Given the description of an element on the screen output the (x, y) to click on. 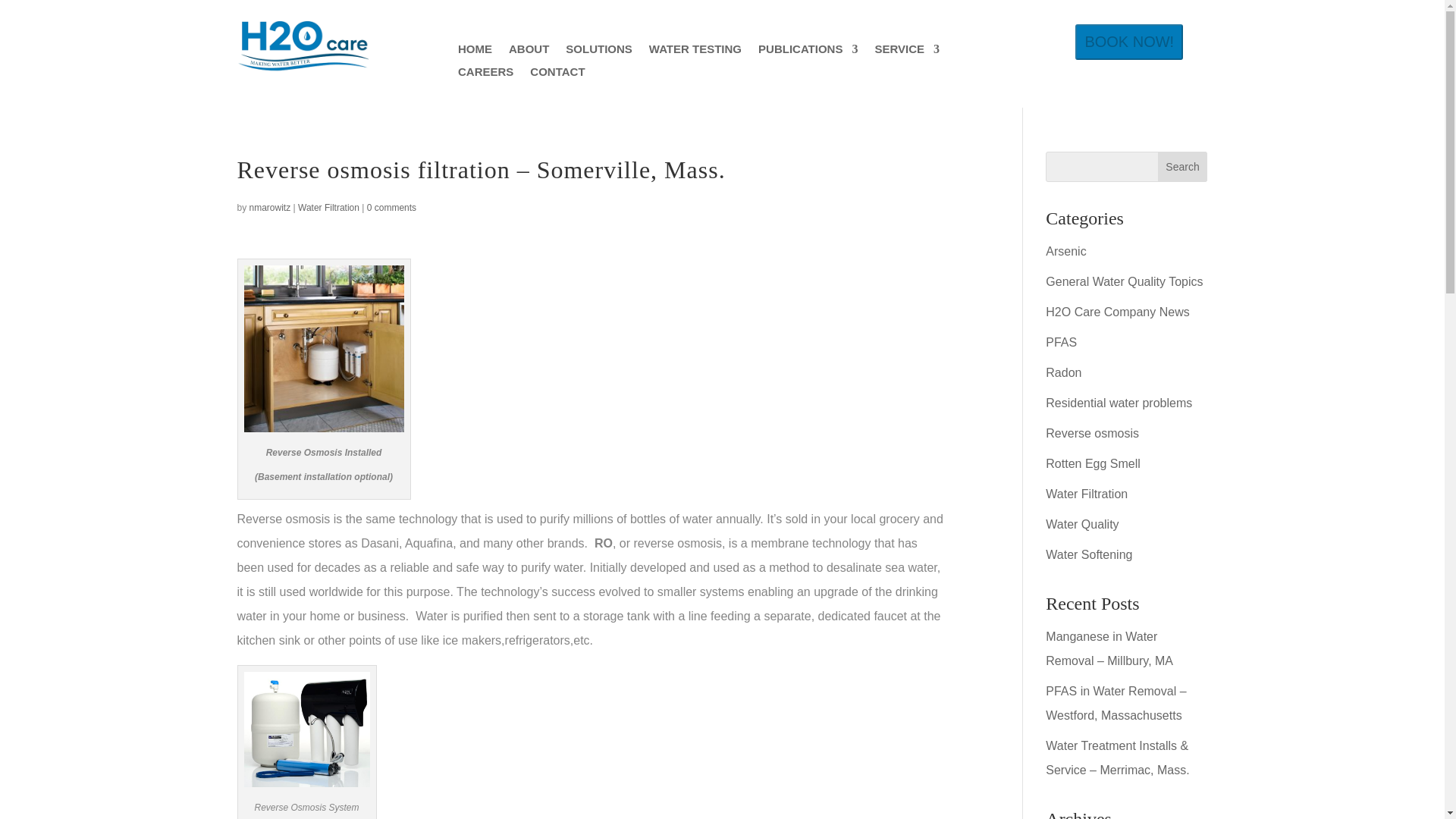
H2o Care Logo 24 (301, 46)
0 comments (391, 207)
CAREERS (485, 74)
SERVICE (907, 52)
WATER TESTING (695, 52)
HOME (475, 52)
Water Filtration (328, 207)
PUBLICATIONS (807, 52)
Search (1182, 166)
BOOK NOW! (1128, 41)
ABOUT (528, 52)
nmarowitz (269, 207)
Posts by nmarowitz (269, 207)
SOLUTIONS (598, 52)
CONTACT (557, 74)
